Given the description of an element on the screen output the (x, y) to click on. 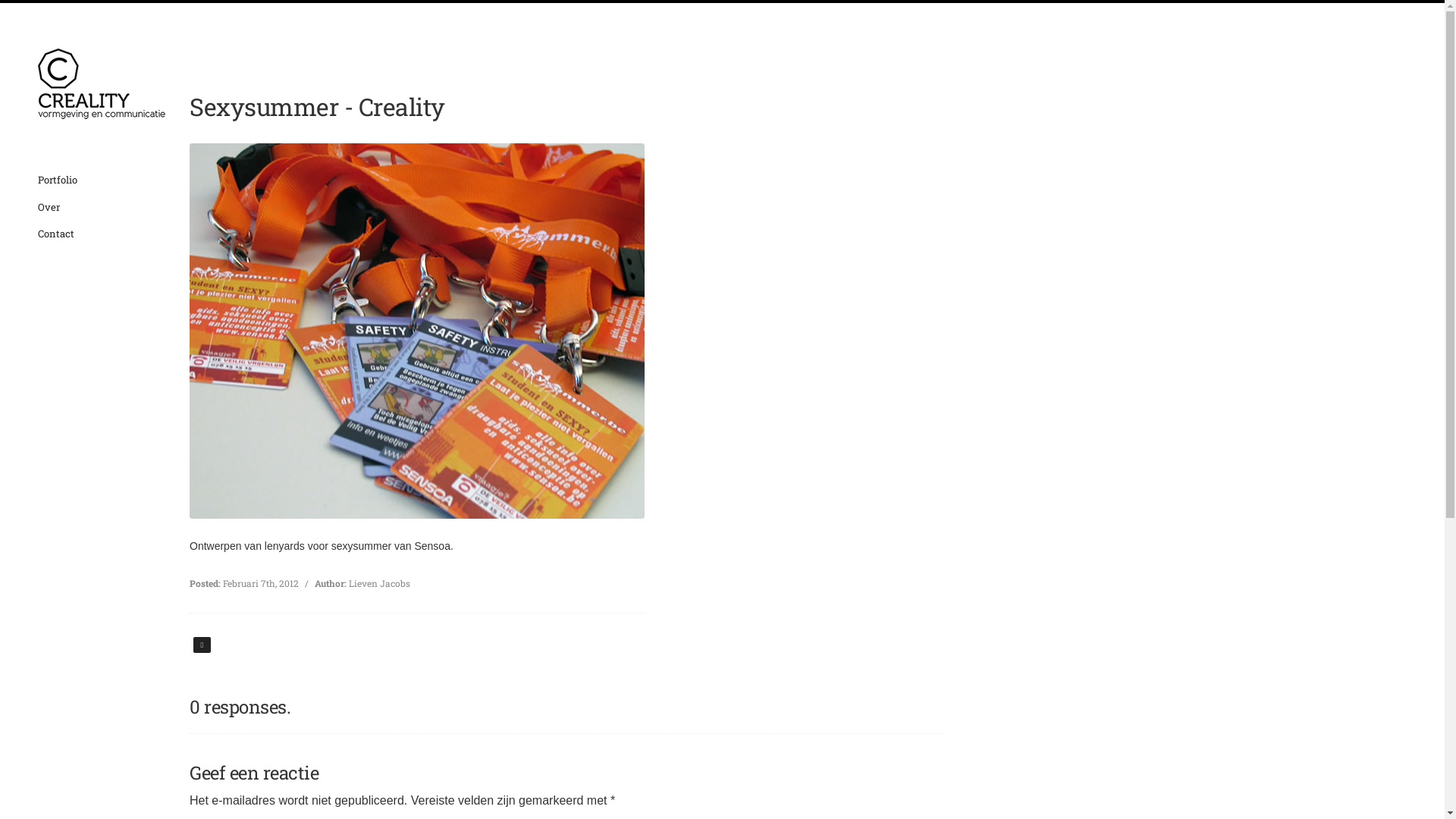
Congres Risicomanagement Element type: hover (202, 644)
Over Element type: text (48, 206)
Portfolio Element type: text (57, 179)
Contact Element type: text (55, 233)
Sexysummer Element type: hover (416, 329)
